Given the description of an element on the screen output the (x, y) to click on. 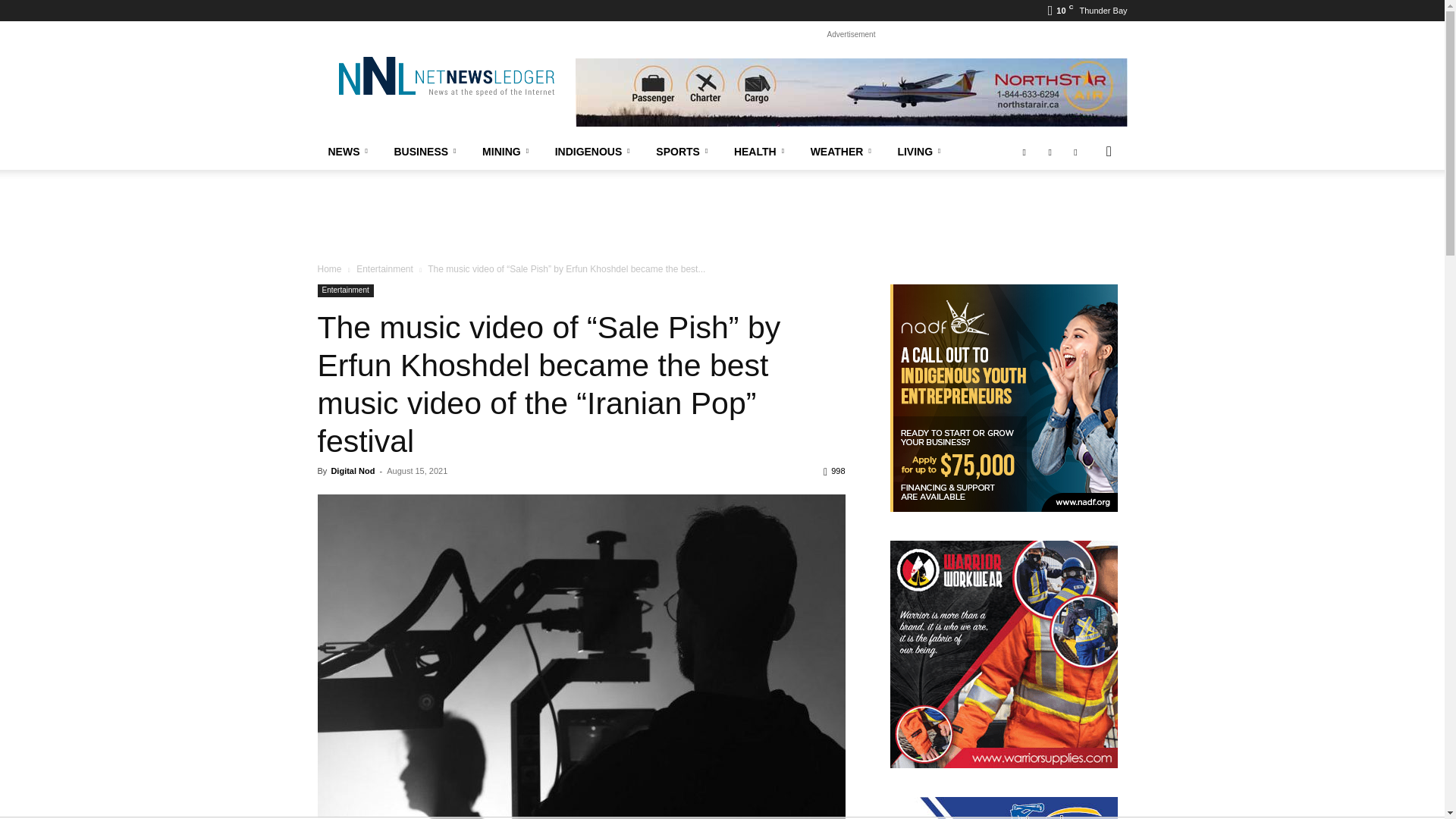
View all posts in Entertainment (384, 268)
North Star Air (850, 92)
NetNewsLedger (445, 76)
